Given the description of an element on the screen output the (x, y) to click on. 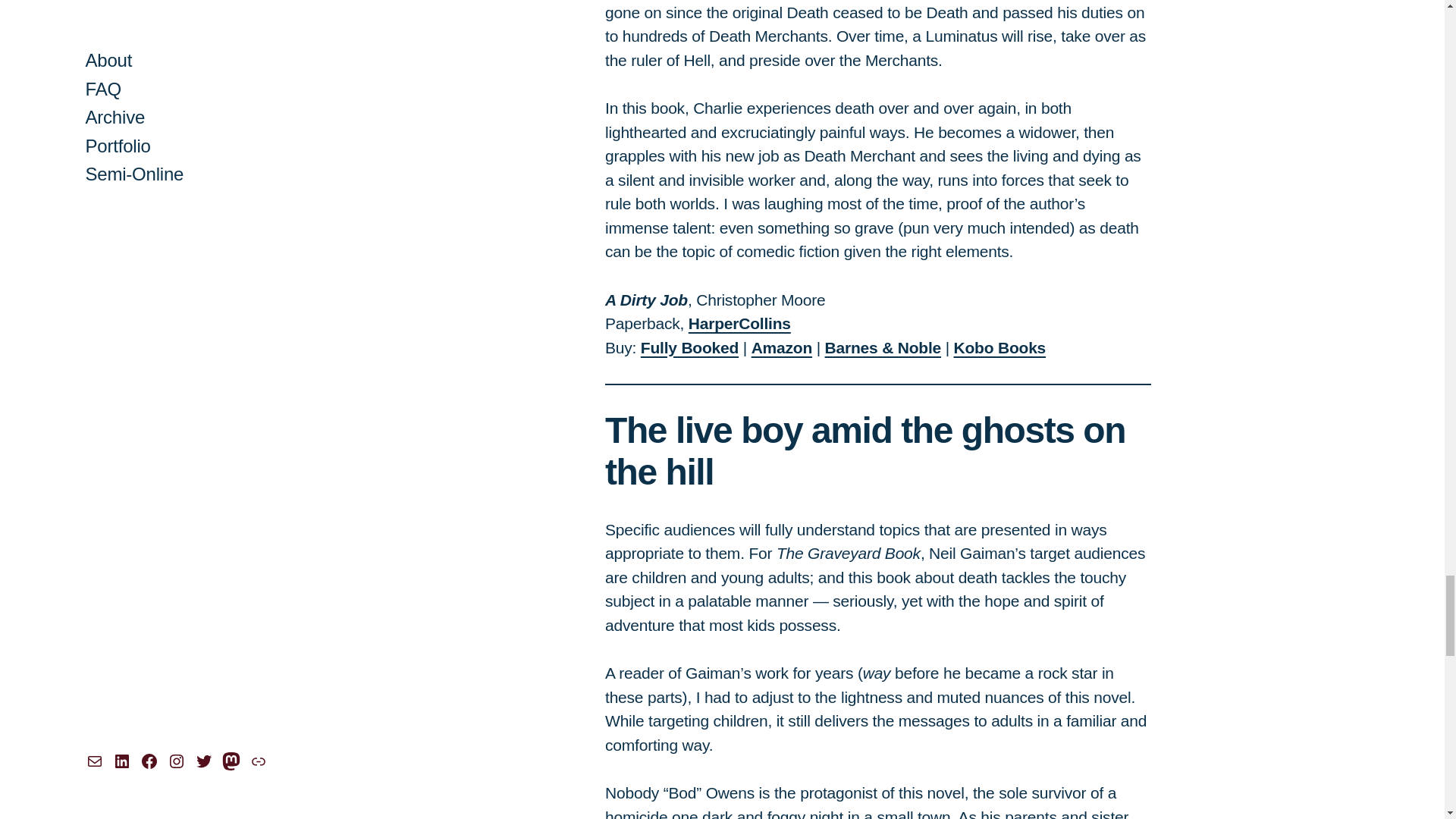
HarperCollins (739, 323)
Amazon (781, 347)
Fully Booked (689, 347)
Kobo Books (999, 347)
